Given the description of an element on the screen output the (x, y) to click on. 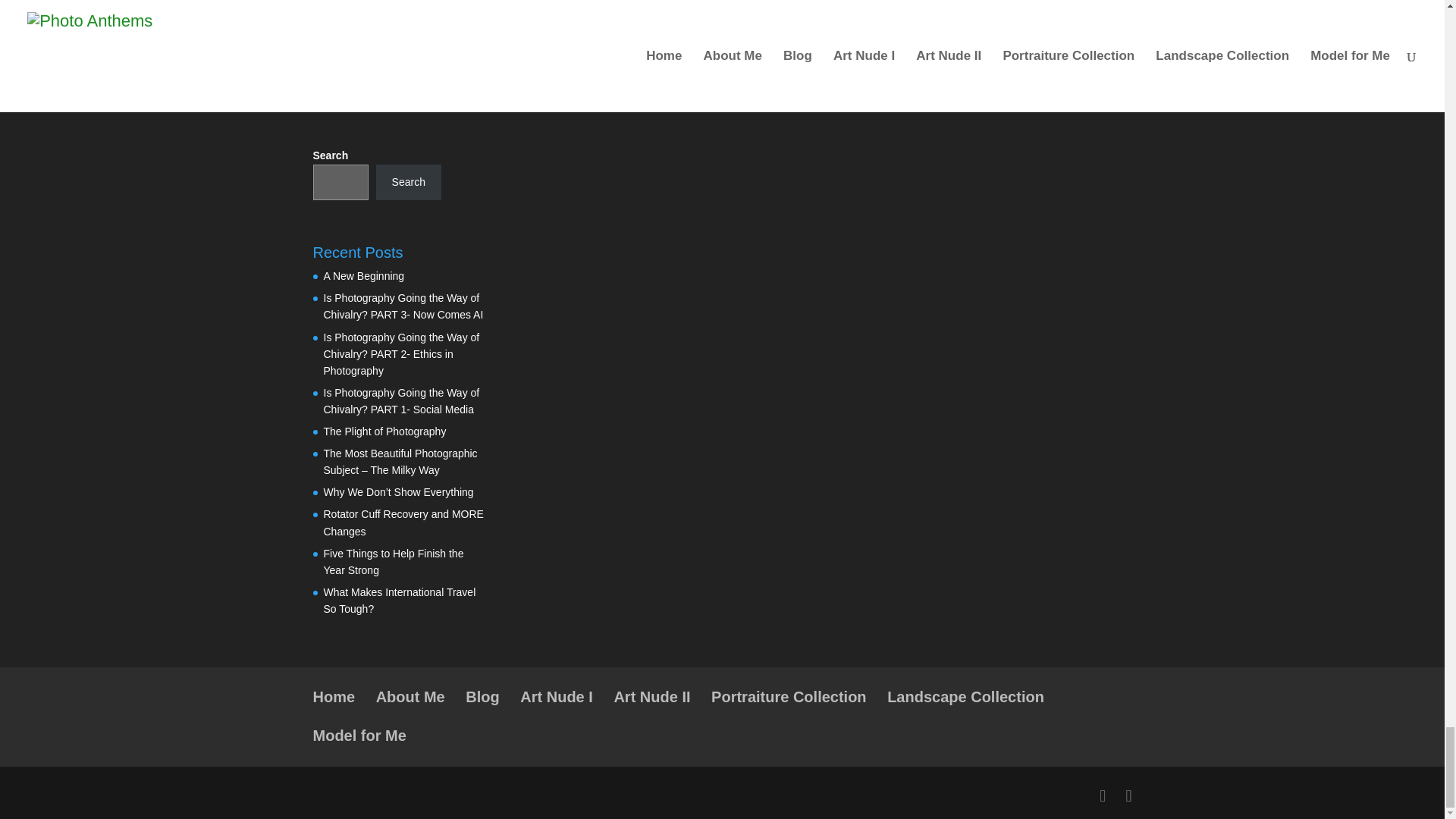
Search (408, 181)
Art Nude I (555, 696)
About Me (410, 696)
What Makes International Travel So Tough? (399, 600)
Portraiture Collection (788, 696)
Landscape Collection (964, 696)
A New Beginning (363, 275)
